Given the description of an element on the screen output the (x, y) to click on. 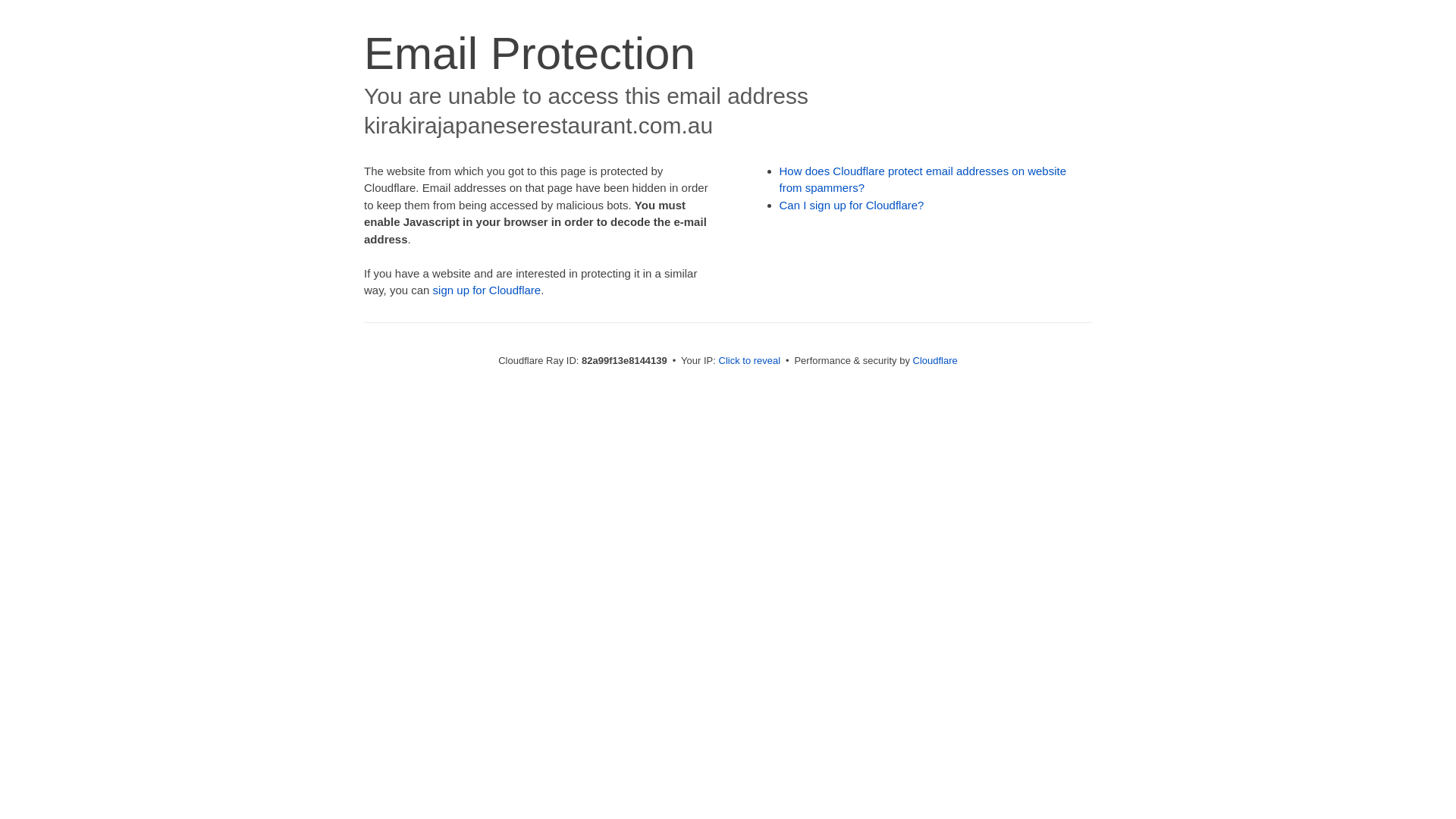
Click to reveal Element type: text (749, 360)
Cloudflare Element type: text (935, 360)
Can I sign up for Cloudflare? Element type: text (851, 204)
sign up for Cloudflare Element type: text (487, 289)
